Given the description of an element on the screen output the (x, y) to click on. 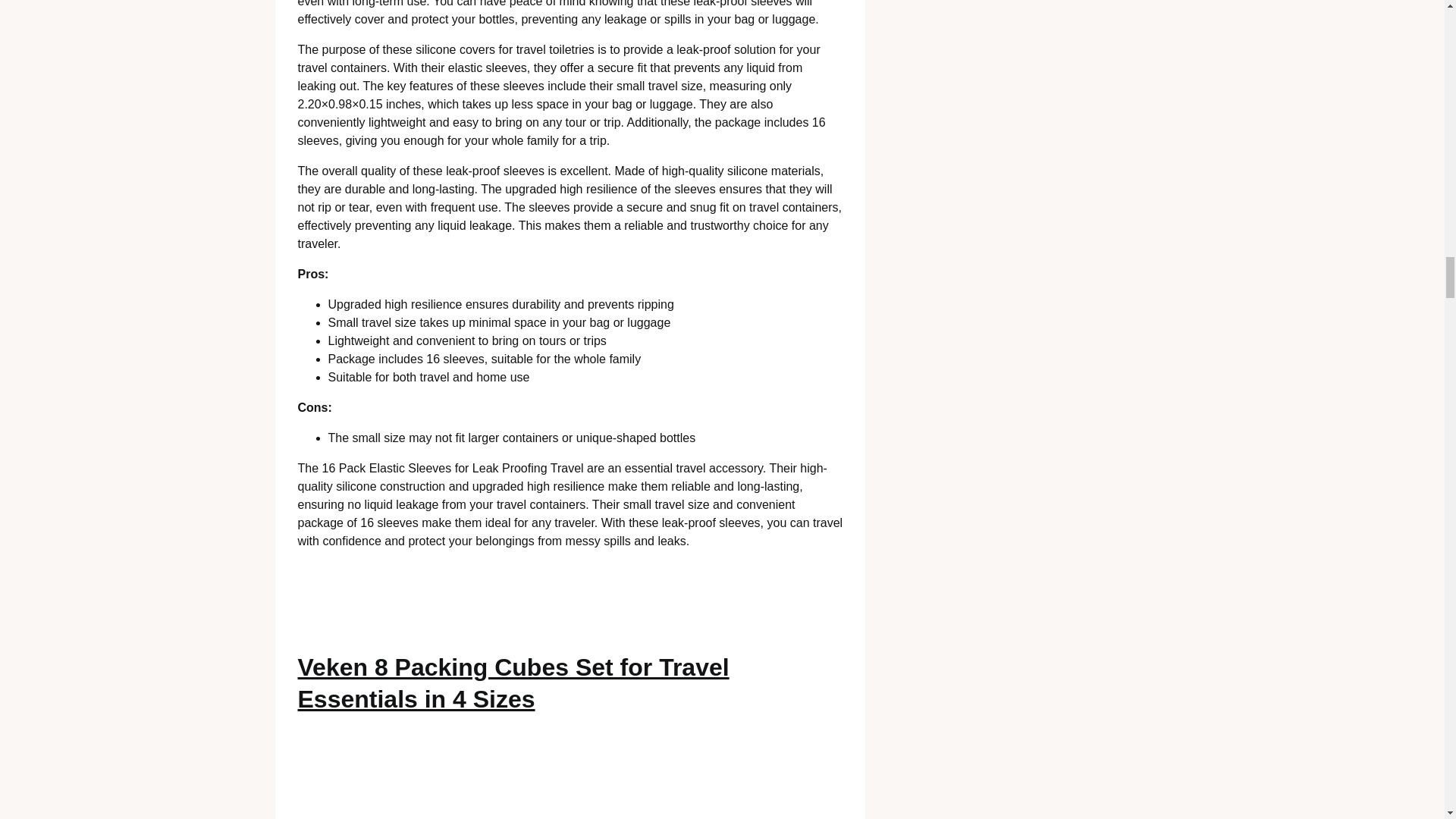
Veken 8 Packing Cubes Set for Travel Essentials in 4 Sizes (513, 682)
